Given the description of an element on the screen output the (x, y) to click on. 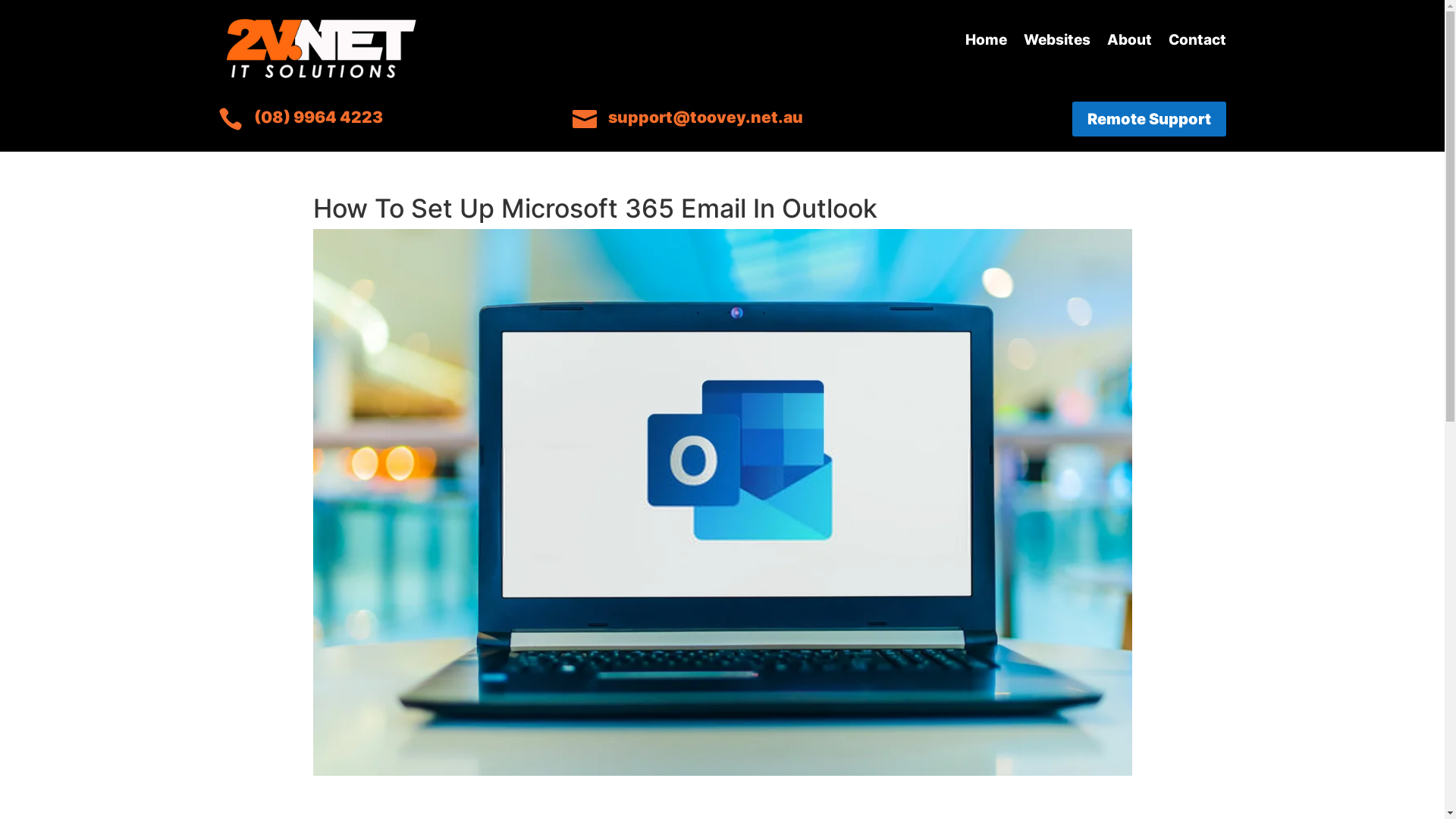
Websites Element type: text (1056, 42)
About Element type: text (1129, 42)
Contact Element type: text (1197, 42)
Home Element type: text (986, 42)
Remote Support Element type: text (1149, 118)
2VNET IT Solutions logo web services geraldton Element type: hover (320, 48)
